Given the description of an element on the screen output the (x, y) to click on. 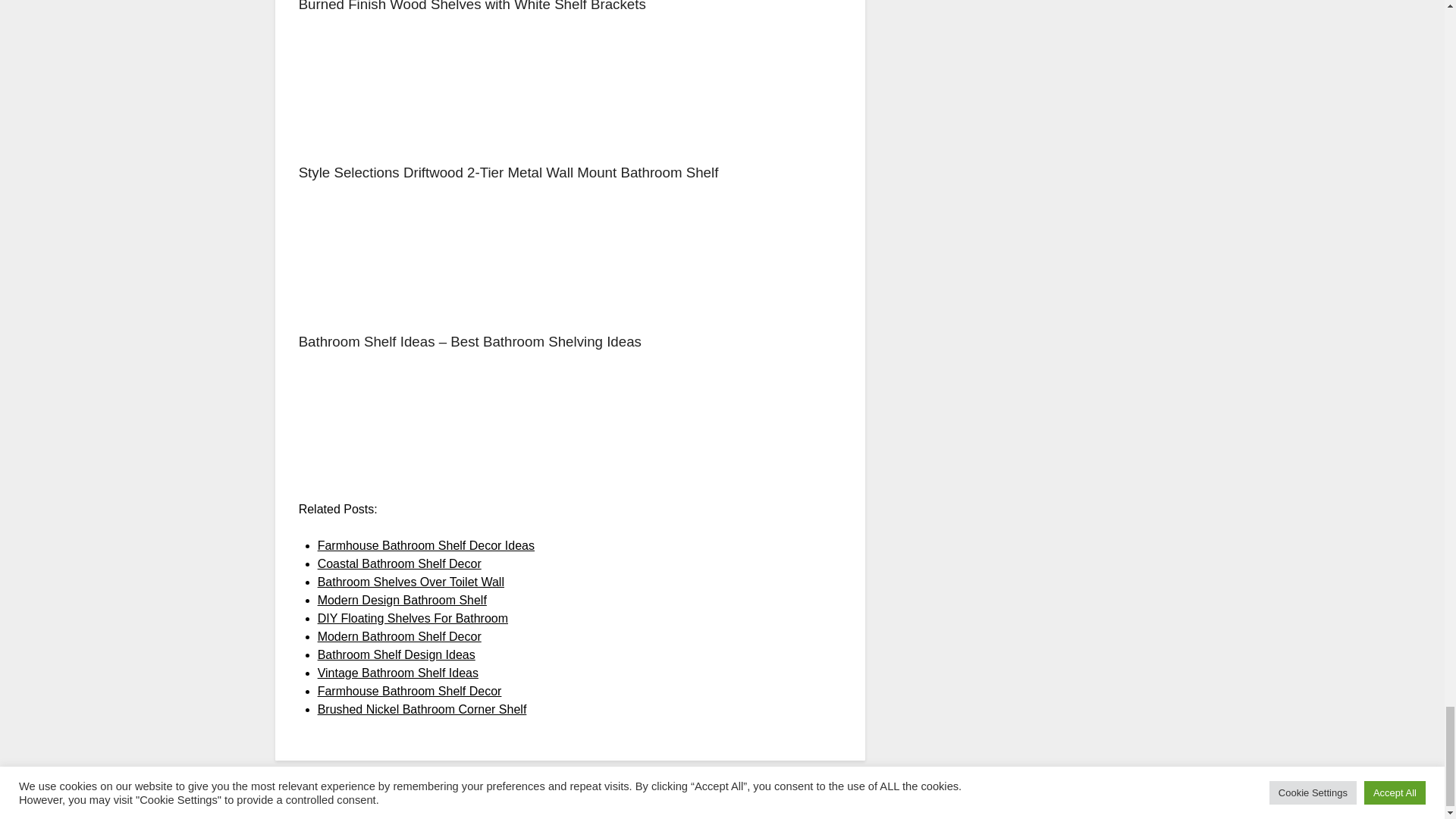
Modern Bathroom Shelf Decor (399, 635)
Vintage Bathroom Shelf Ideas (398, 672)
Farmhouse Bathroom Shelf Decor Ideas (425, 545)
Modern Design Bathroom Shelf (401, 599)
Bathroom Shelves Over Toilet Wall (410, 581)
DIY Floating Shelves For Bathroom (412, 617)
Bathroom Shelf Design Ideas (396, 654)
Superbthemes.com (757, 805)
Brushed Nickel Bathroom Corner Shelf (422, 708)
Farmhouse Bathroom Shelf Decor (409, 690)
